Given the description of an element on the screen output the (x, y) to click on. 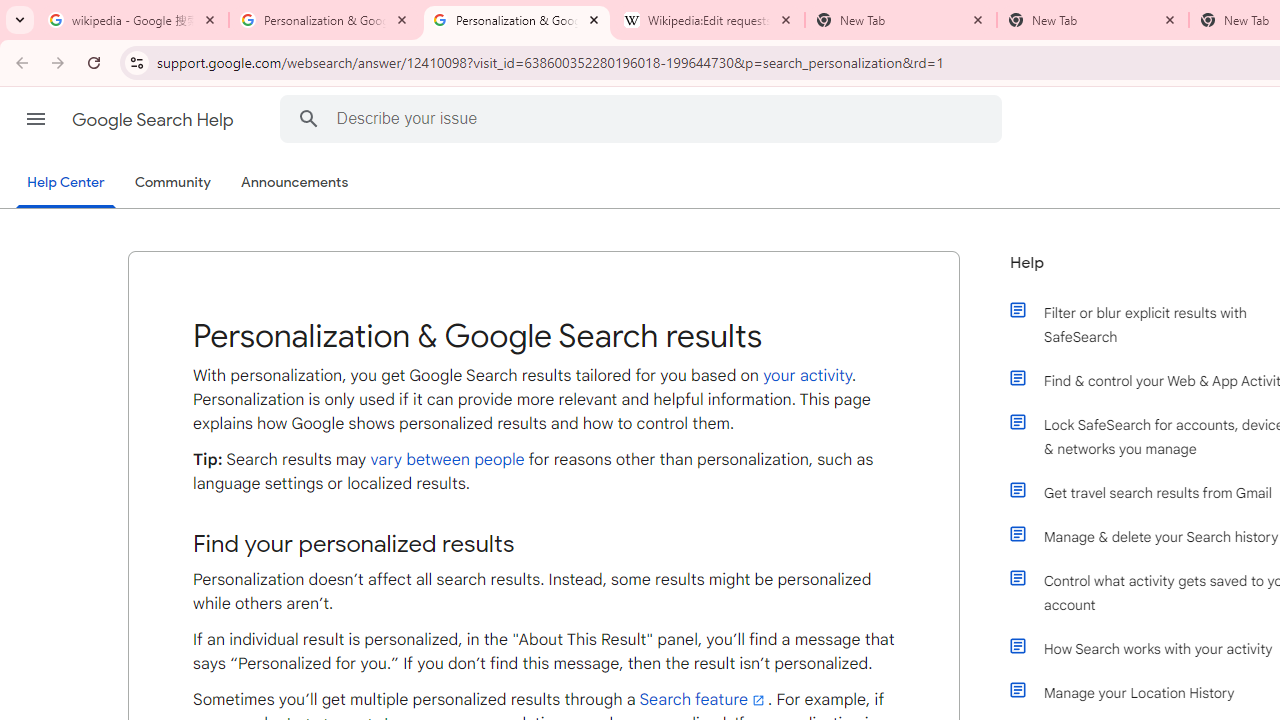
Community (171, 183)
Main menu (35, 119)
Help Center (65, 183)
Search feature (703, 699)
New Tab (1093, 20)
Wikipedia:Edit requests - Wikipedia (709, 20)
Google Search Help (154, 119)
